Given the description of an element on the screen output the (x, y) to click on. 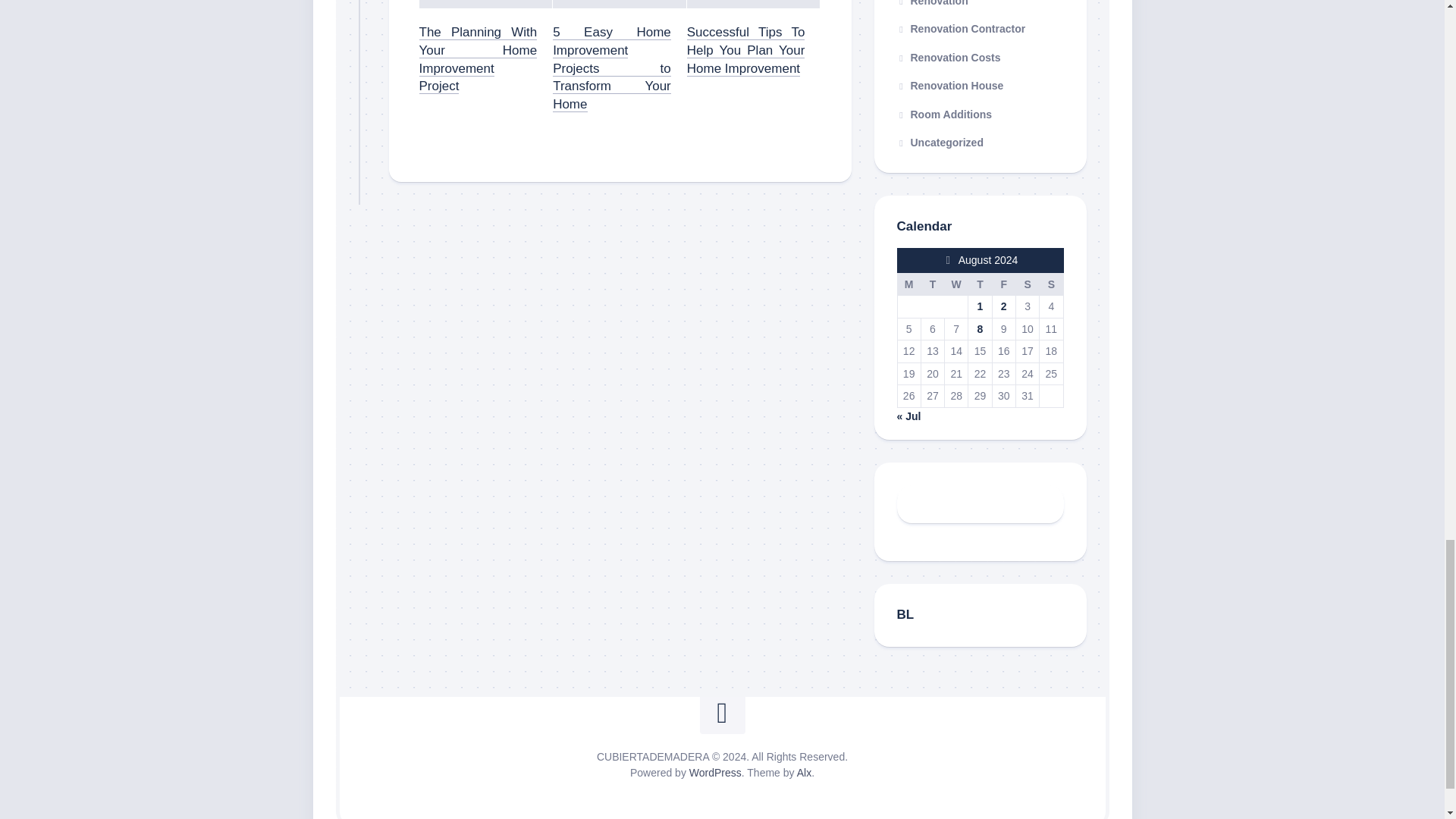
Friday (1002, 283)
Saturday (1026, 283)
Tuesday (931, 283)
Sunday (1050, 283)
Thursday (979, 283)
Wednesday (956, 283)
Monday (908, 283)
